Given the description of an element on the screen output the (x, y) to click on. 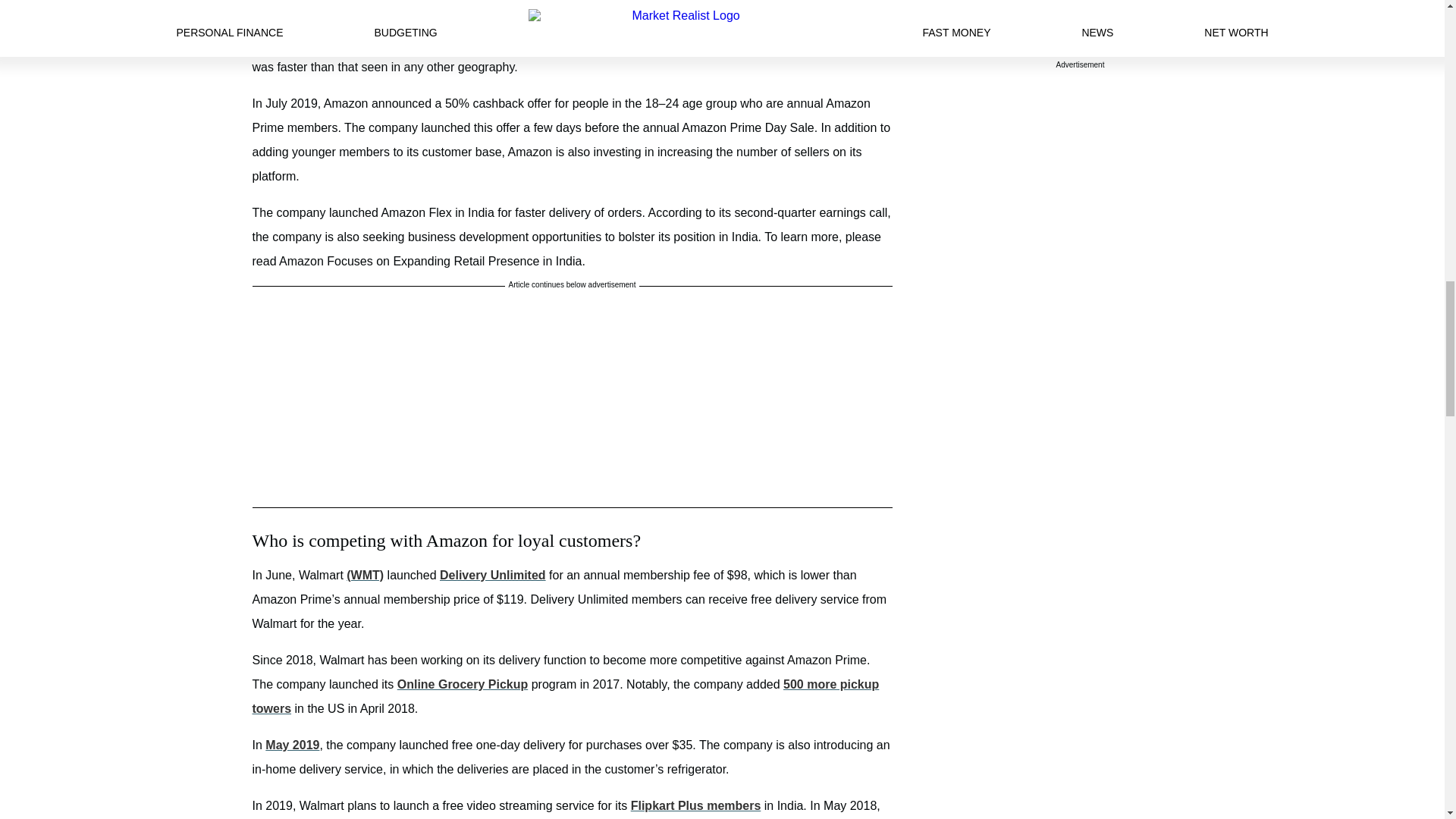
letter to shareholders (439, 42)
Delivery Unlimited (492, 574)
Online Grocery Pickup (462, 684)
500 more pickup towers (565, 696)
Flipkart Plus members (695, 805)
May 2019 (291, 744)
